Given the description of an element on the screen output the (x, y) to click on. 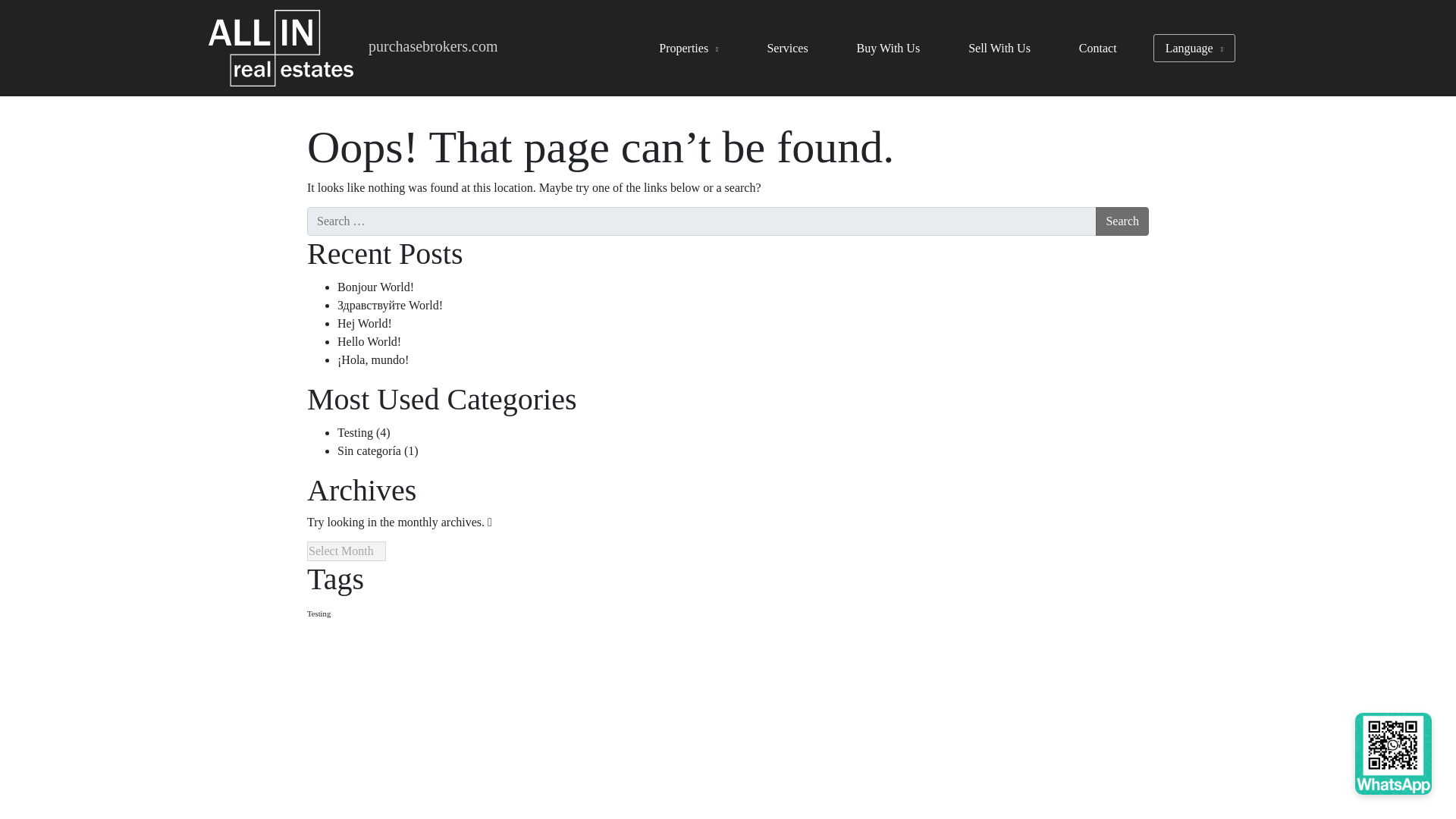
Testing (354, 431)
Sell With Us (999, 48)
Contact (1097, 48)
Language (1193, 48)
Services (787, 48)
purchasebrokers.com (432, 45)
Properties (688, 48)
Sell With Us (999, 48)
Properties (688, 48)
Testing (318, 613)
